Given the description of an element on the screen output the (x, y) to click on. 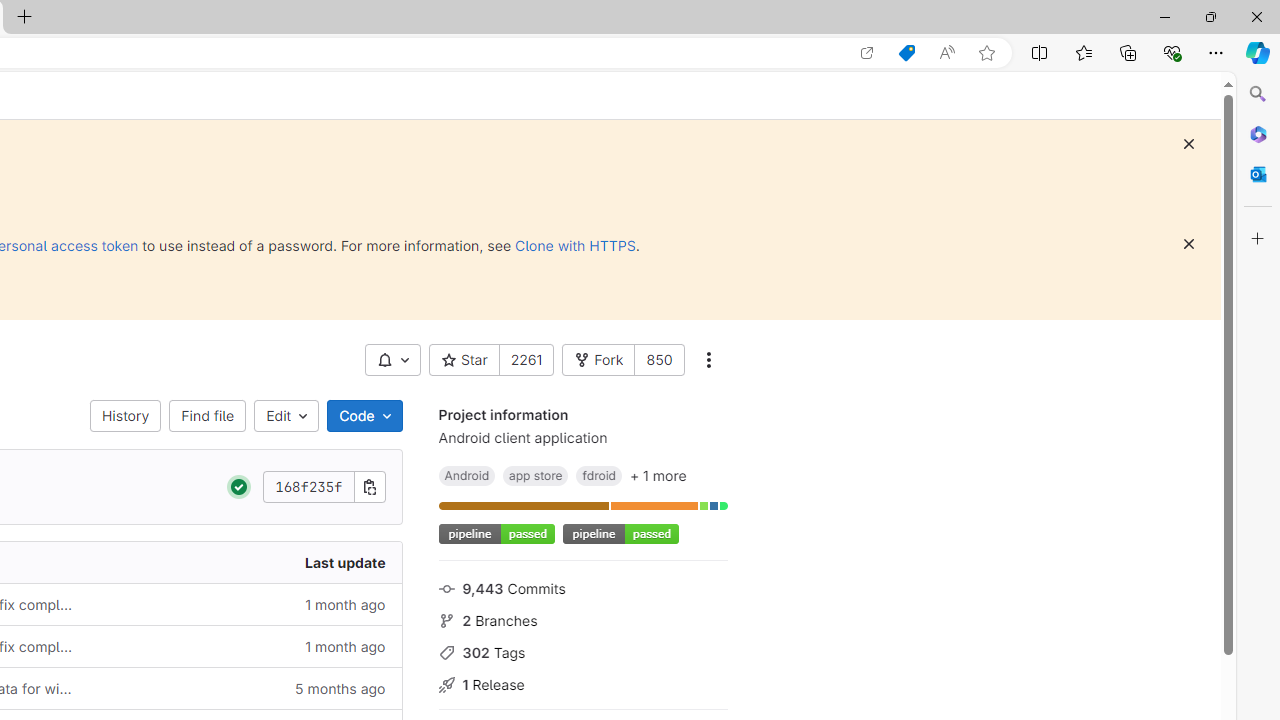
1 Release (582, 682)
1 month ago (247, 646)
Fork (598, 359)
Class: s16 gl-icon gl-button-icon  (1188, 243)
Android (466, 475)
2261 (526, 359)
AutomationID: __BVID__332__BV_toggle_ (393, 359)
302 Tags (582, 651)
Project badge (619, 534)
+ 1 more (657, 475)
More actions (708, 359)
